Given the description of an element on the screen output the (x, y) to click on. 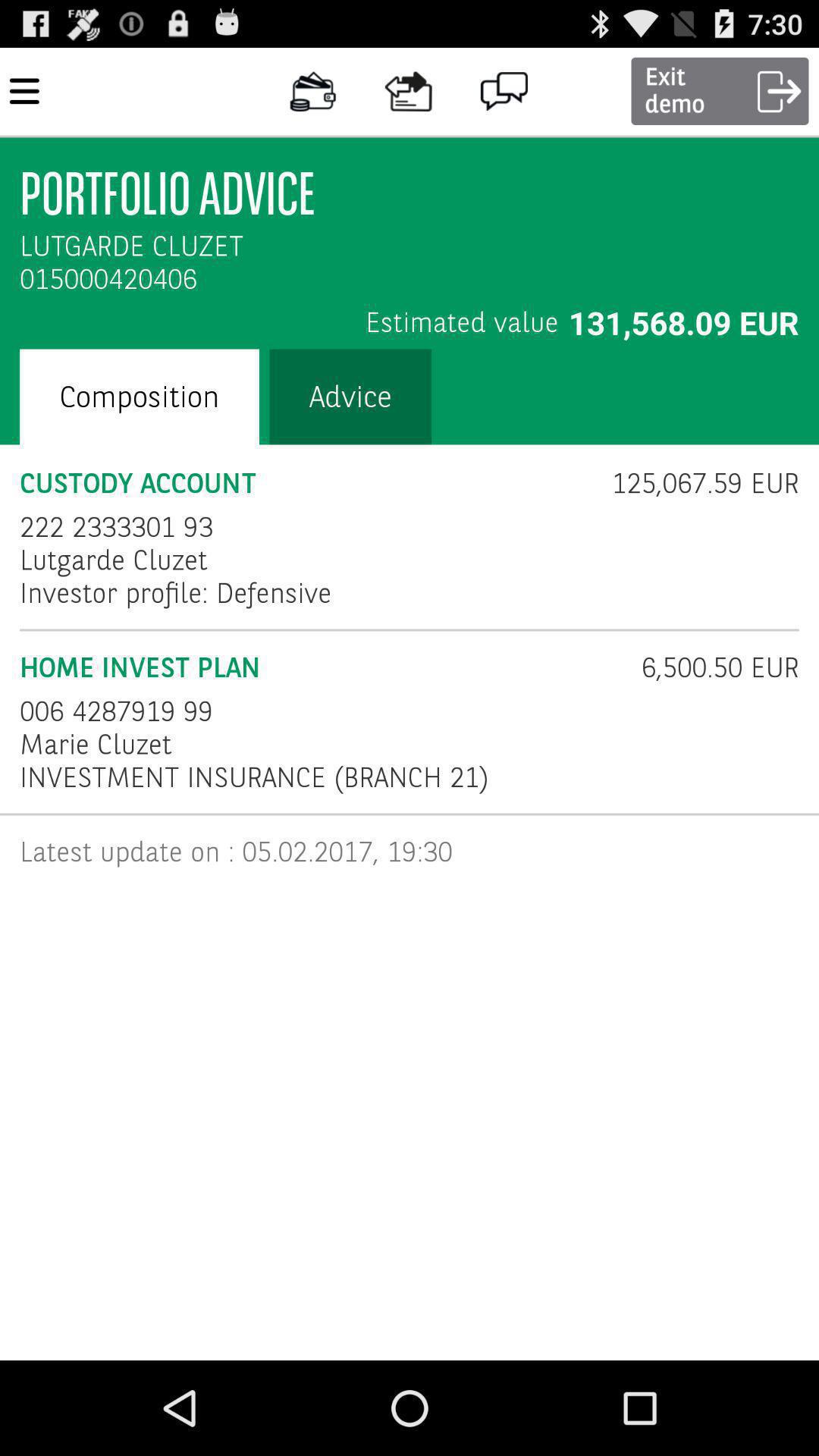
swipe until 222 2333301 93 checkbox (116, 526)
